Given the description of an element on the screen output the (x, y) to click on. 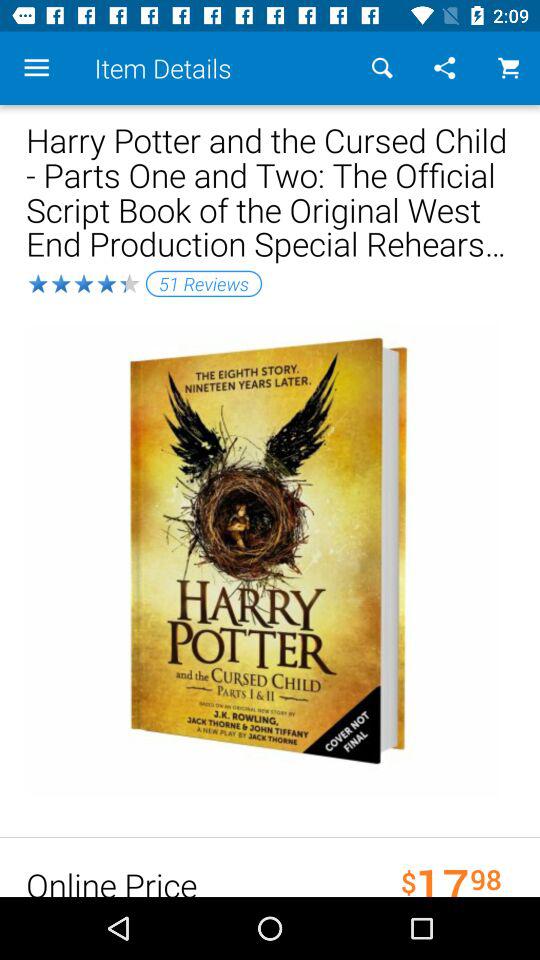
open the item below the harry potter and item (203, 283)
